Given the description of an element on the screen output the (x, y) to click on. 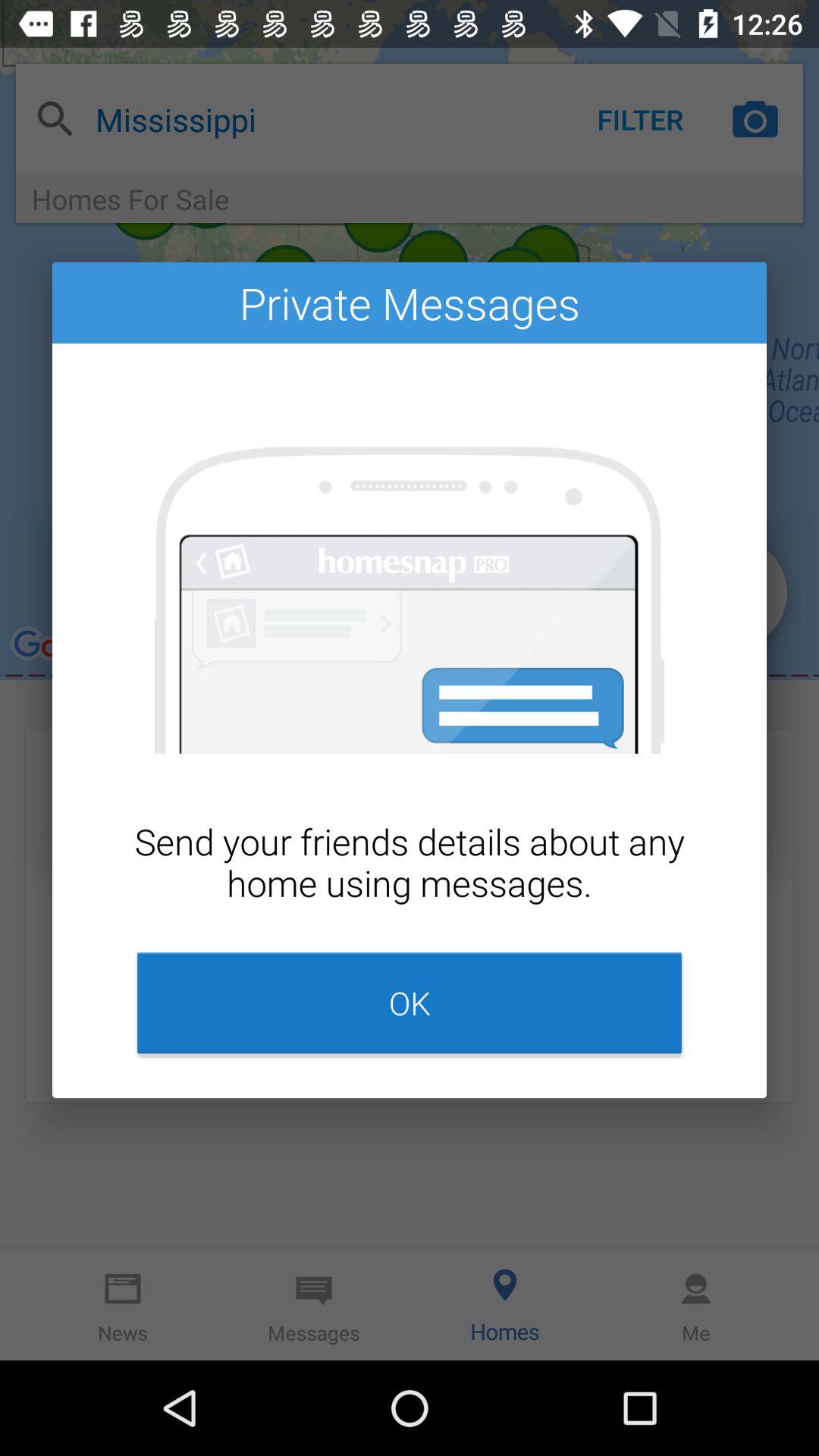
tap icon below send your friends item (409, 1002)
